Given the description of an element on the screen output the (x, y) to click on. 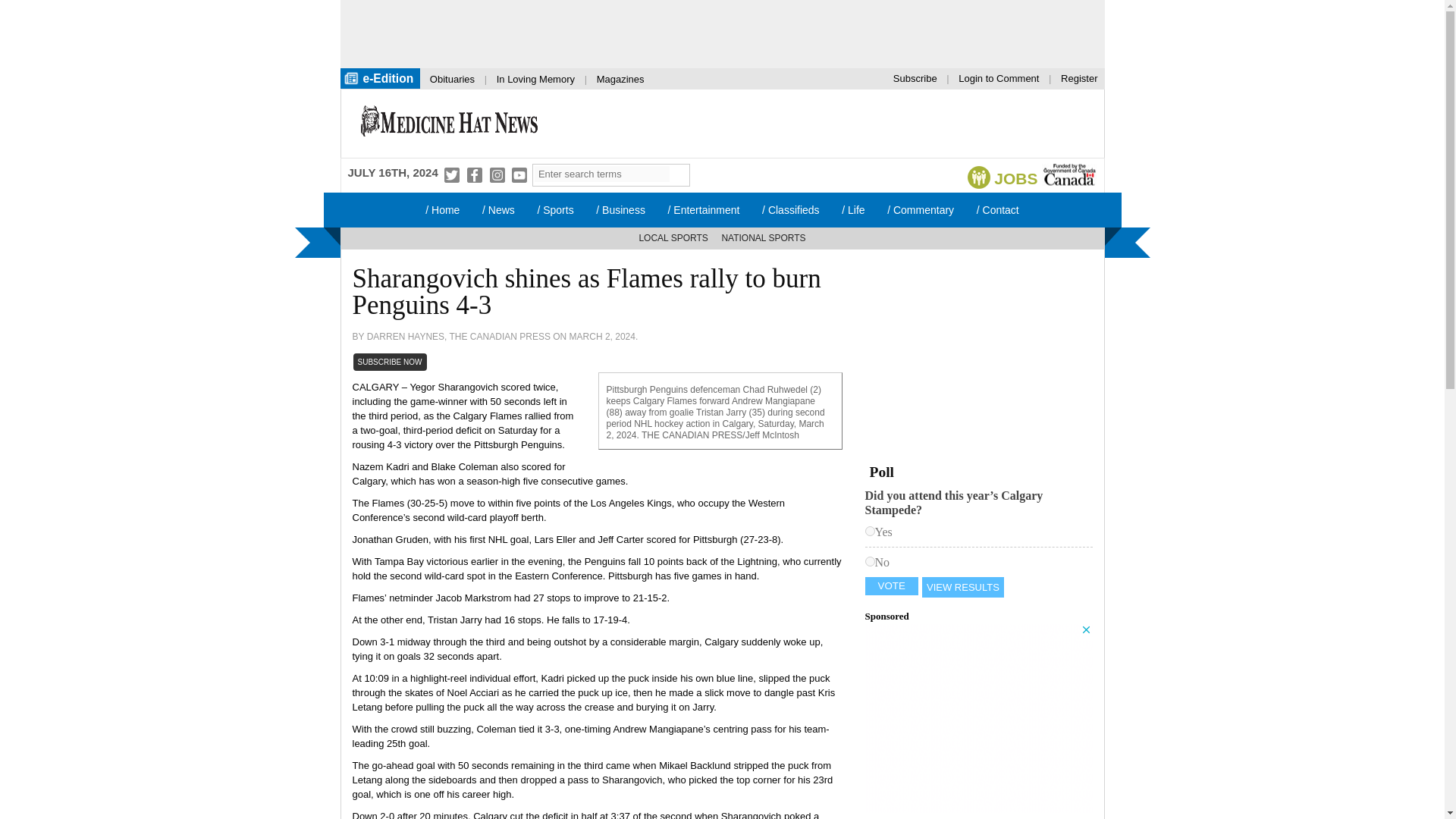
VIEW RESULTS (962, 587)
   Vote    (891, 586)
Obituaries (452, 78)
Home (441, 209)
NATIONAL SPORTS (763, 238)
3rd party ad content (978, 718)
In Loving Memory (534, 78)
3rd party ad content (978, 355)
News (497, 209)
View Results Of This Poll (962, 587)
LOCAL SPORTS (673, 238)
Classifieds (790, 209)
Login to Comment (998, 77)
3rd party ad content (707, 33)
